Given the description of an element on the screen output the (x, y) to click on. 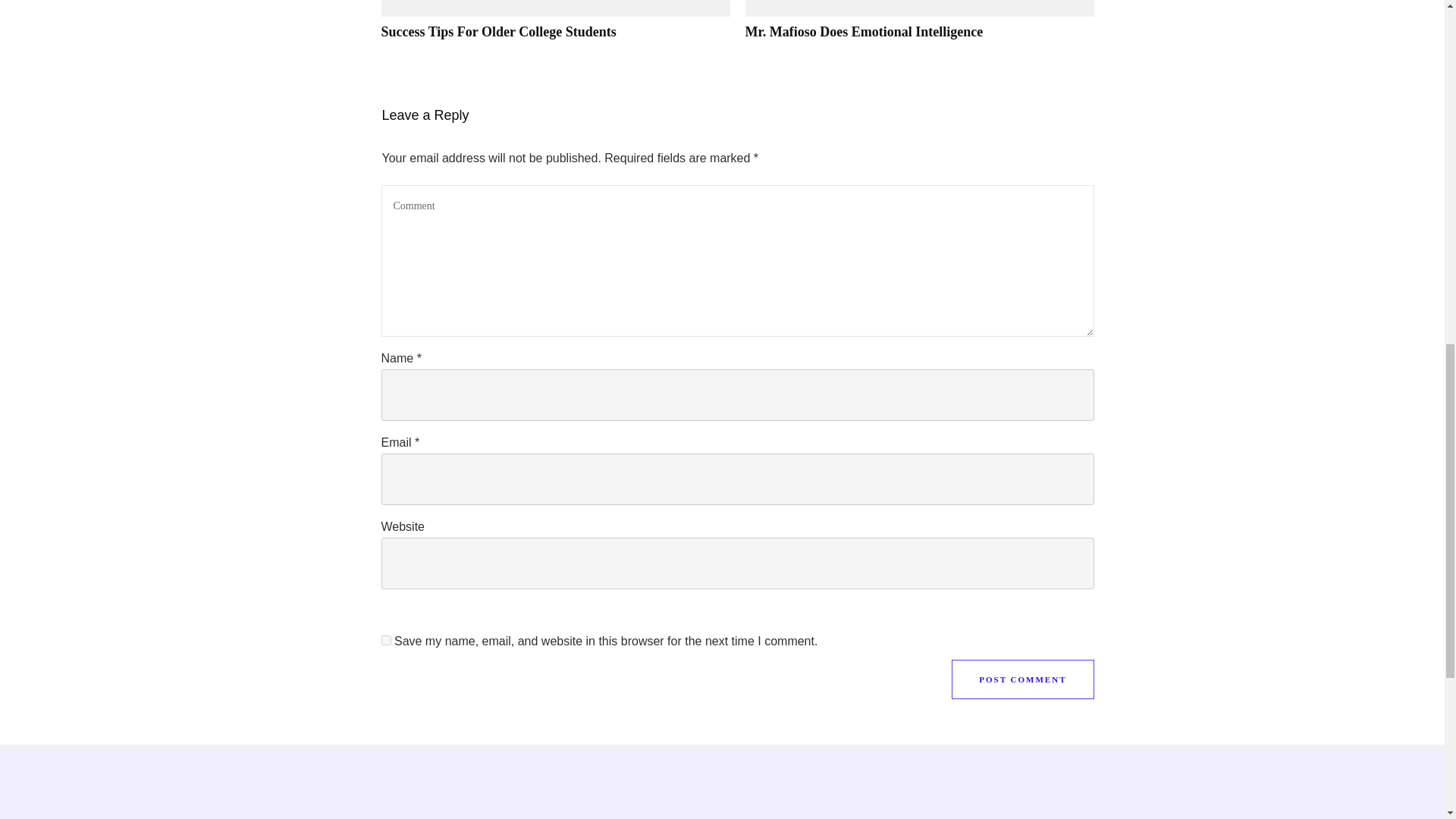
Mr. Mafioso Does Emotional Intelligence (863, 31)
Mr. Mafioso Does Emotional Intelligence (863, 31)
Success Tips For Older College Students (497, 31)
Success Tips For Older College Students (554, 28)
POST COMMENT (1022, 679)
yes (385, 640)
Success Tips For Older College Students (497, 31)
Mr. Mafioso Does Emotional Intelligence (918, 28)
